Given the description of an element on the screen output the (x, y) to click on. 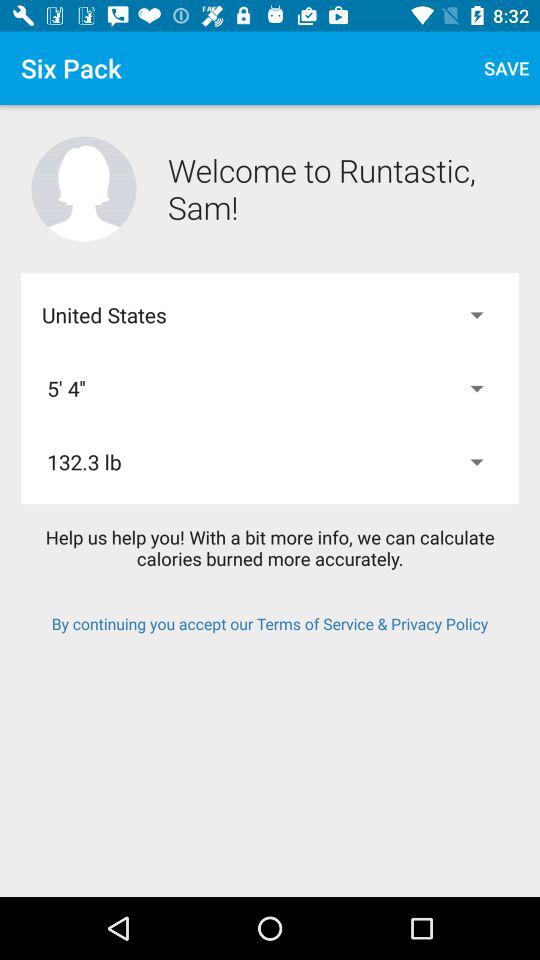
scroll to 5' 4'' icon (269, 388)
